Given the description of an element on the screen output the (x, y) to click on. 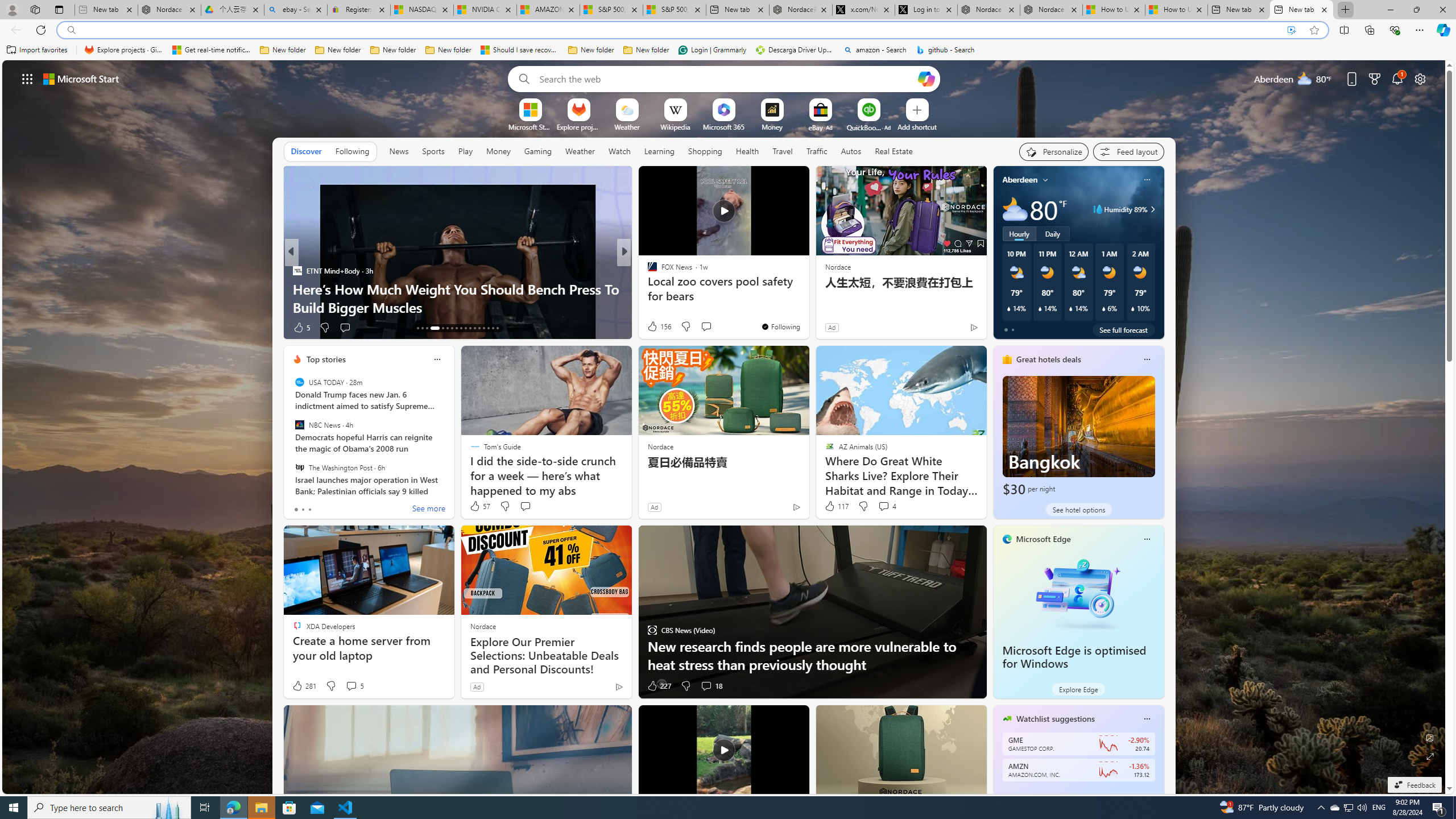
Add a site (916, 126)
Real Estate (893, 151)
View comments 75 Comment (707, 327)
How to Use a Monitor With Your Closed Laptop (1176, 9)
Log in to X / X (925, 9)
Play (465, 151)
Gaming (537, 151)
